Given the description of an element on the screen output the (x, y) to click on. 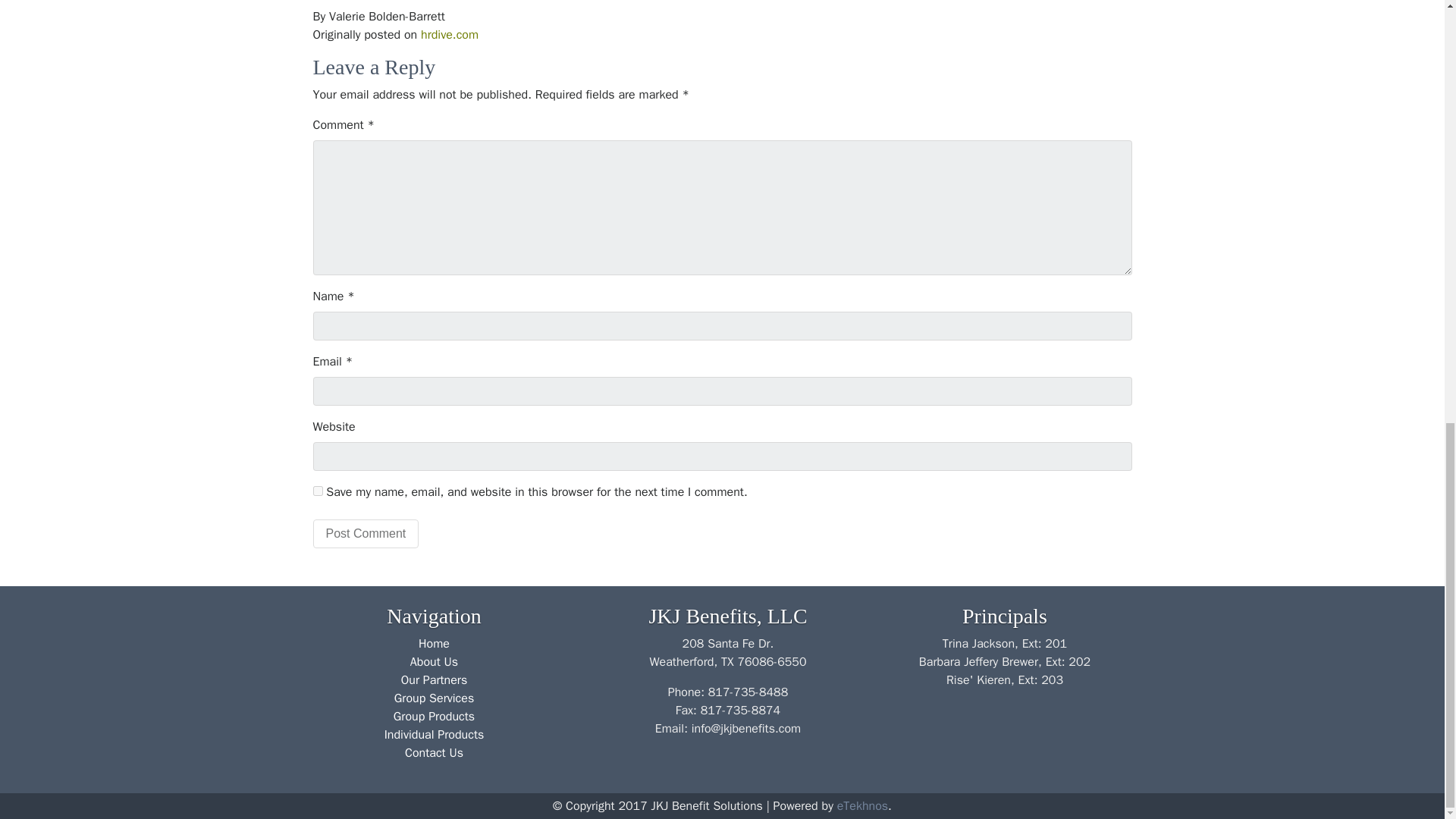
Post Comment (366, 533)
yes (317, 491)
Home (434, 643)
Contact Us (433, 752)
eTekhnos (862, 806)
Group Services (434, 698)
hrdive.com (449, 34)
Individual Products (434, 734)
Our Partners (434, 679)
About Us (434, 661)
Group Products (433, 716)
Post Comment (366, 533)
